Given the description of an element on the screen output the (x, y) to click on. 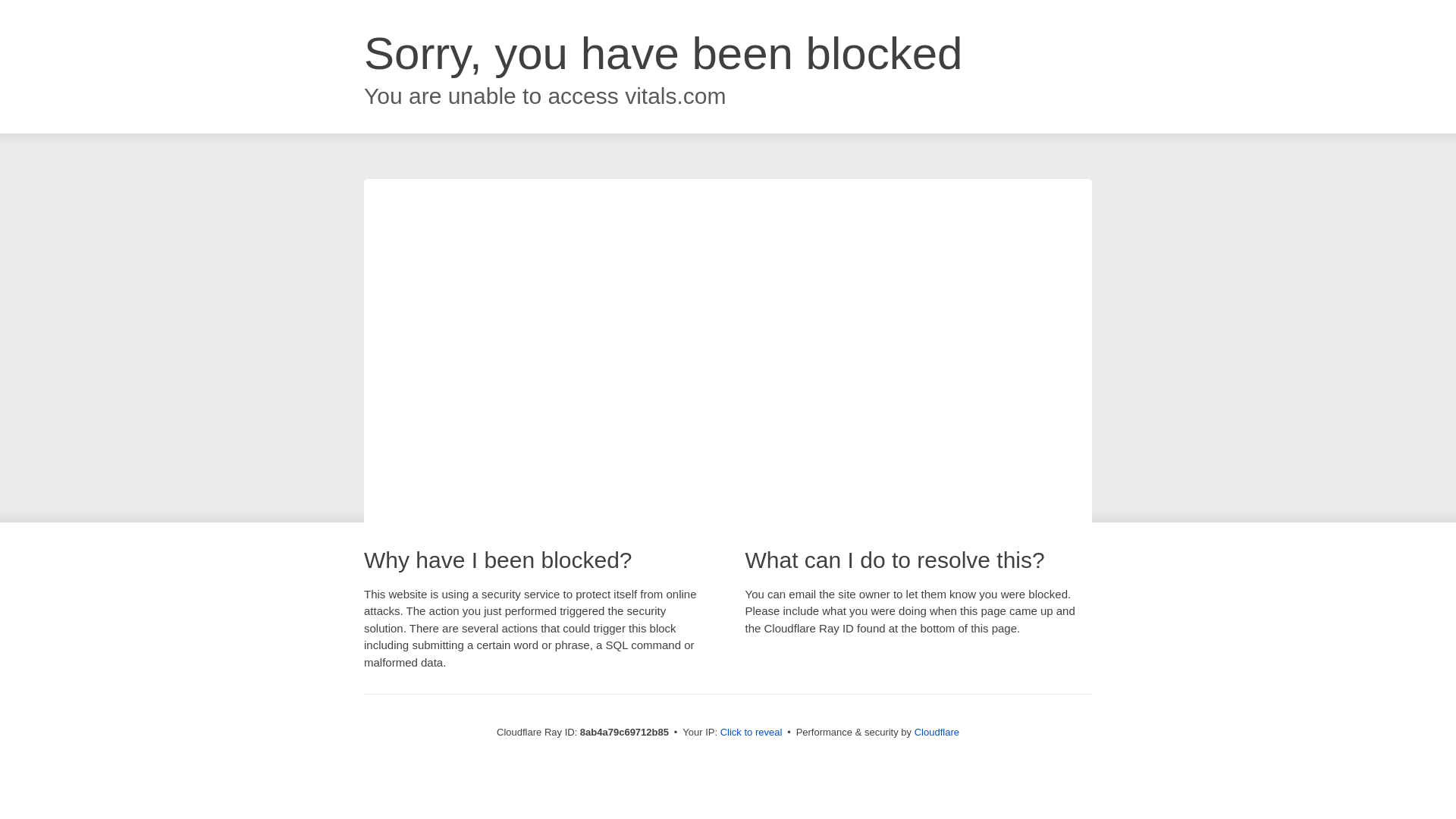
Cloudflare (936, 731)
Click to reveal (751, 732)
